Given the description of an element on the screen output the (x, y) to click on. 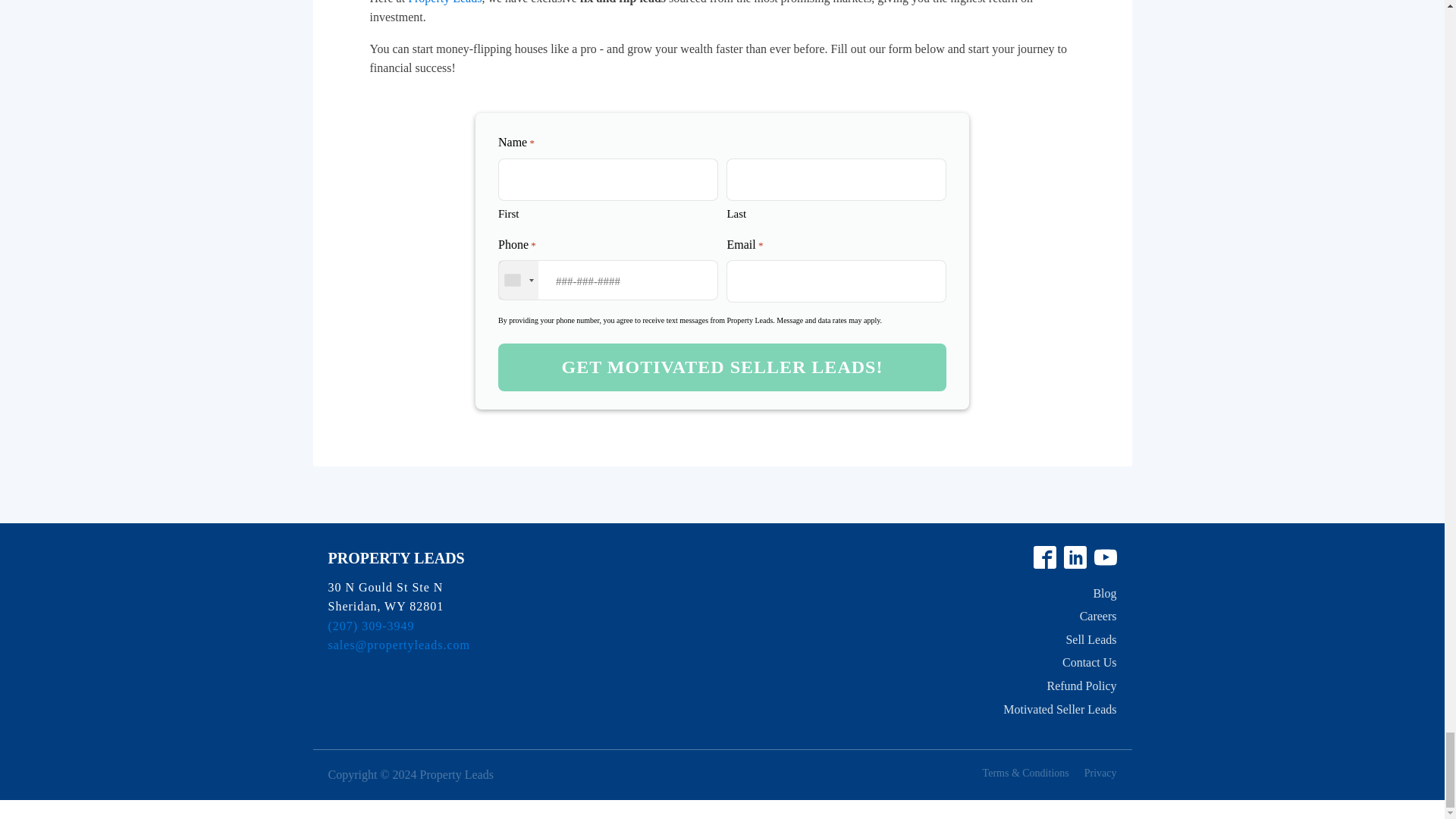
Sell Leads (1090, 639)
Property Leads (444, 2)
Contact Us (1089, 662)
GET MOTIVATED SELLER LEADS! (721, 366)
Motivated Seller Leads (1059, 709)
Blog (1104, 593)
Privacy (1100, 773)
GET MOTIVATED SELLER LEADS! (721, 366)
Careers (1098, 616)
Refund Policy (1081, 686)
